Given the description of an element on the screen output the (x, y) to click on. 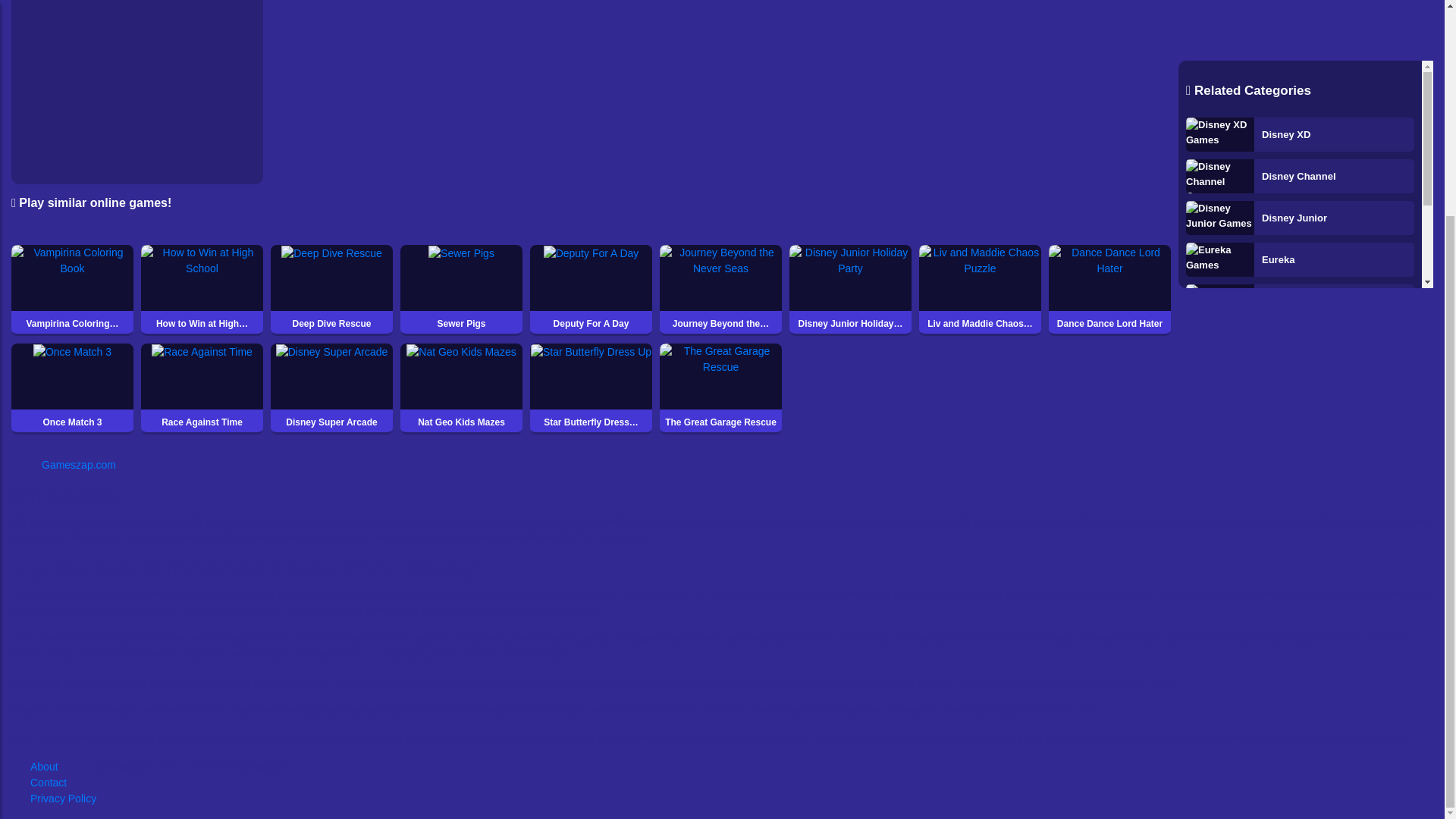
Race Against Time (202, 388)
Deep Dive Rescue (331, 289)
Dance Dance Lord Hater (1109, 289)
Disney Super Arcade (331, 388)
Deputy For A Day (590, 289)
Once Match 3 (72, 388)
Sewer Pigs (461, 289)
